Given the description of an element on the screen output the (x, y) to click on. 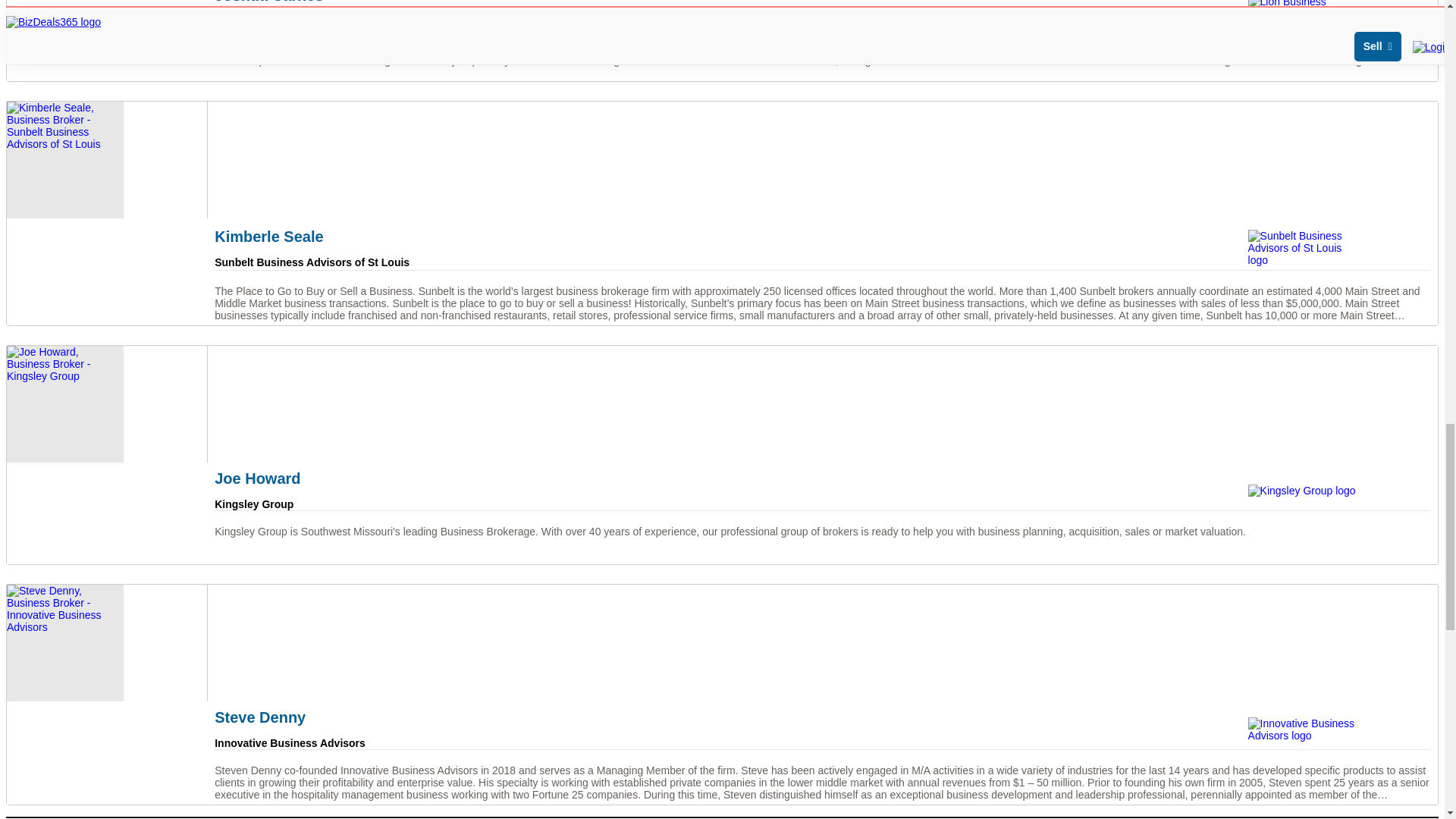
Sunbelt Business Advisors of St Louis (1305, 248)
Kingsley Group (1305, 490)
Innovative Business Advisors (1305, 729)
Joshua Carnes, Business Broker - City of Saint Louis, MO (722, 40)
Lion Business Brokers (1305, 9)
